Given the description of an element on the screen output the (x, y) to click on. 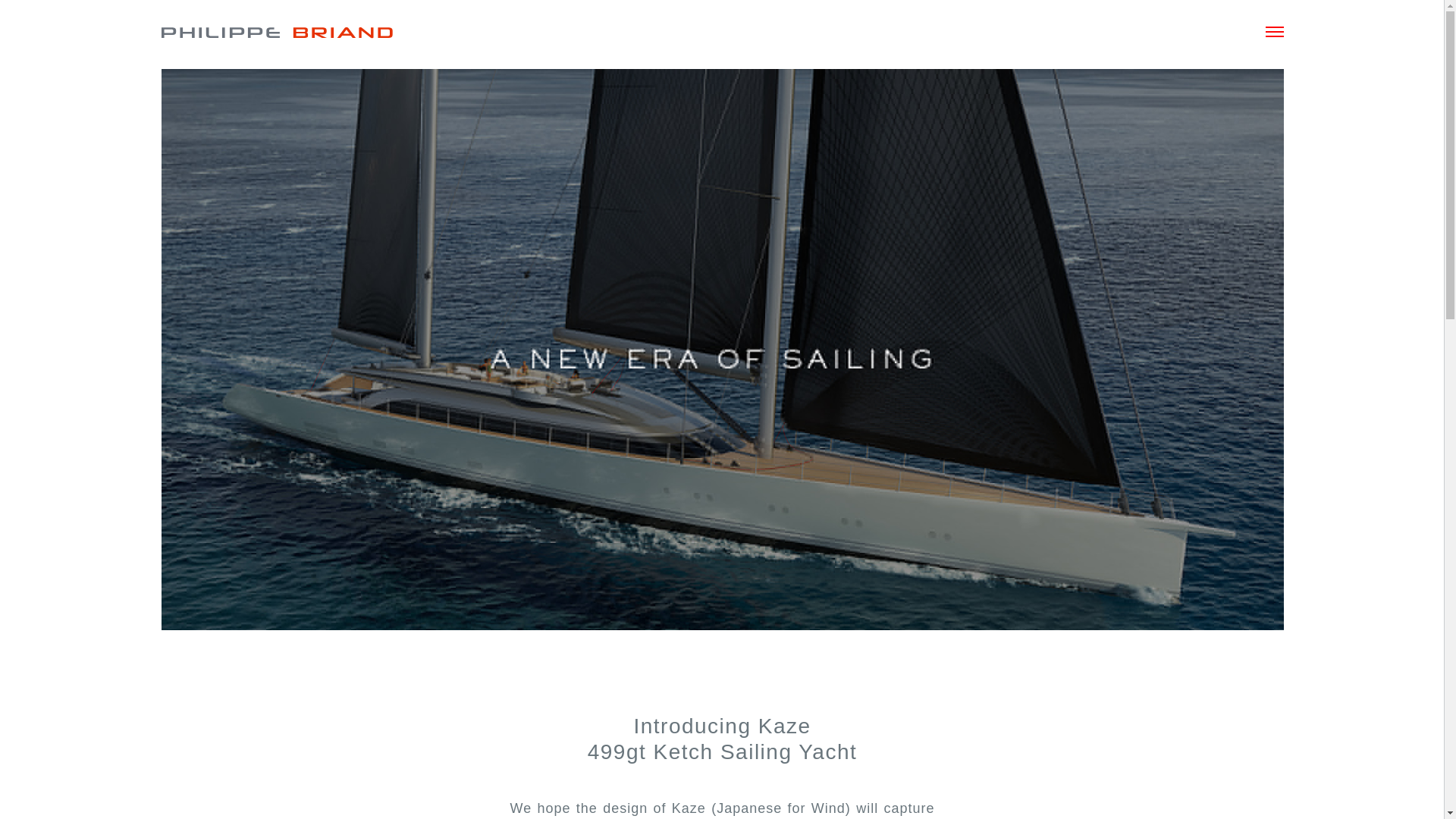
Vitruvius Yachts (296, 33)
